Given the description of an element on the screen output the (x, y) to click on. 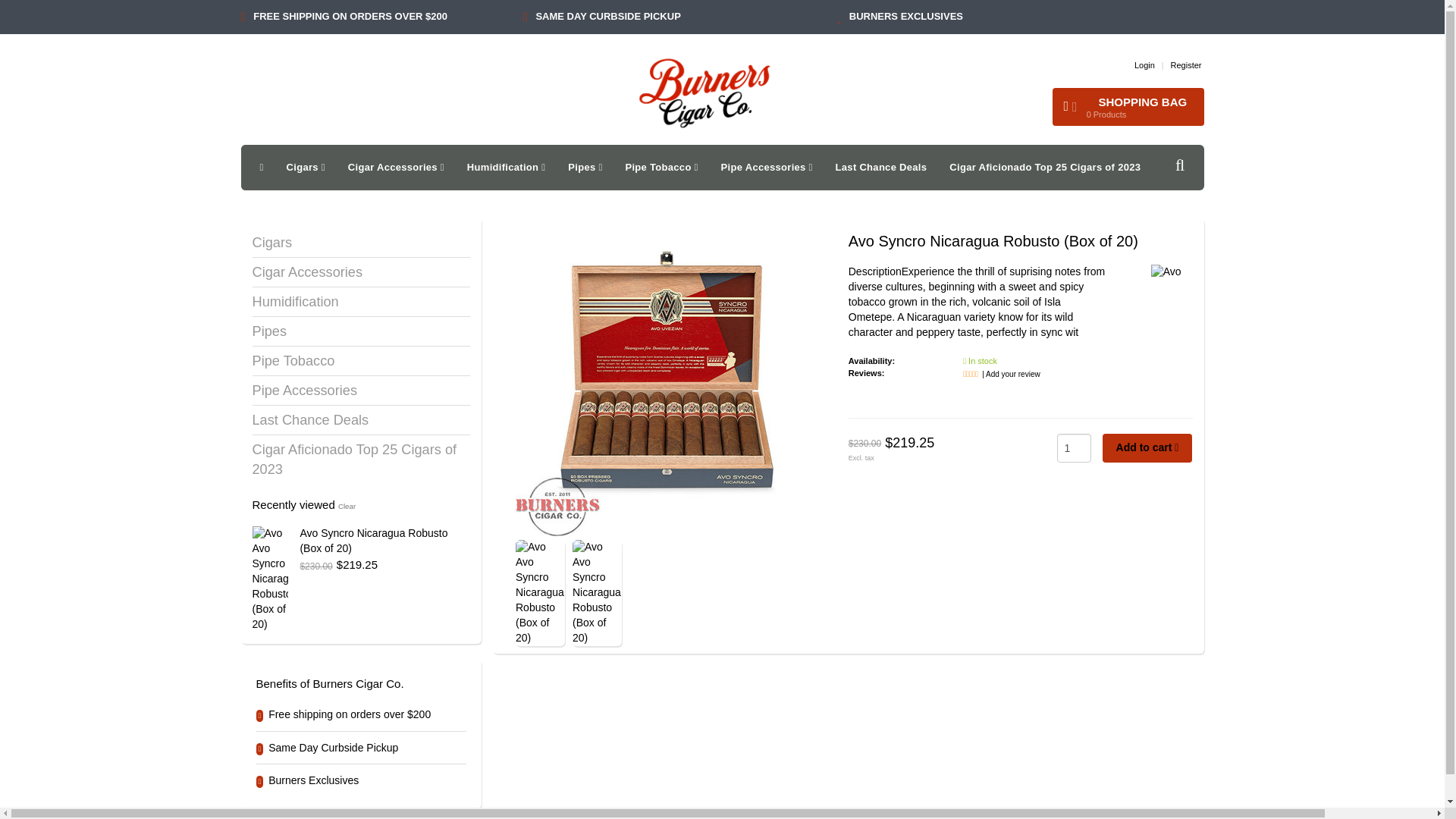
Login (1144, 64)
Cigars (305, 167)
Burners Exclusives (905, 16)
Register (1186, 64)
Same Day Curbside Pickup (607, 16)
SAME DAY CURBSIDE PICKUP (607, 16)
My account (1144, 64)
Cigars (305, 167)
1 (1073, 448)
BURNERS EXCLUSIVES (905, 16)
